Given the description of an element on the screen output the (x, y) to click on. 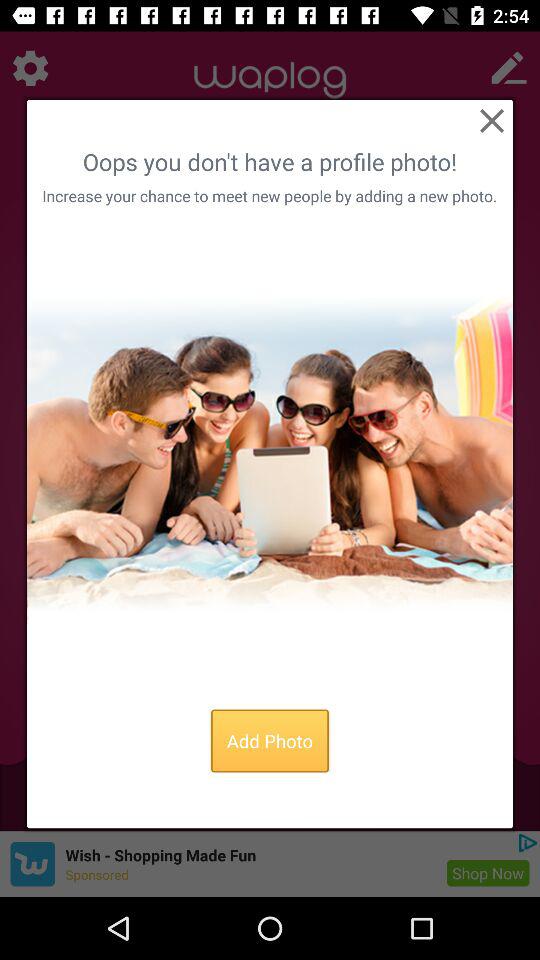
close button (491, 120)
